Given the description of an element on the screen output the (x, y) to click on. 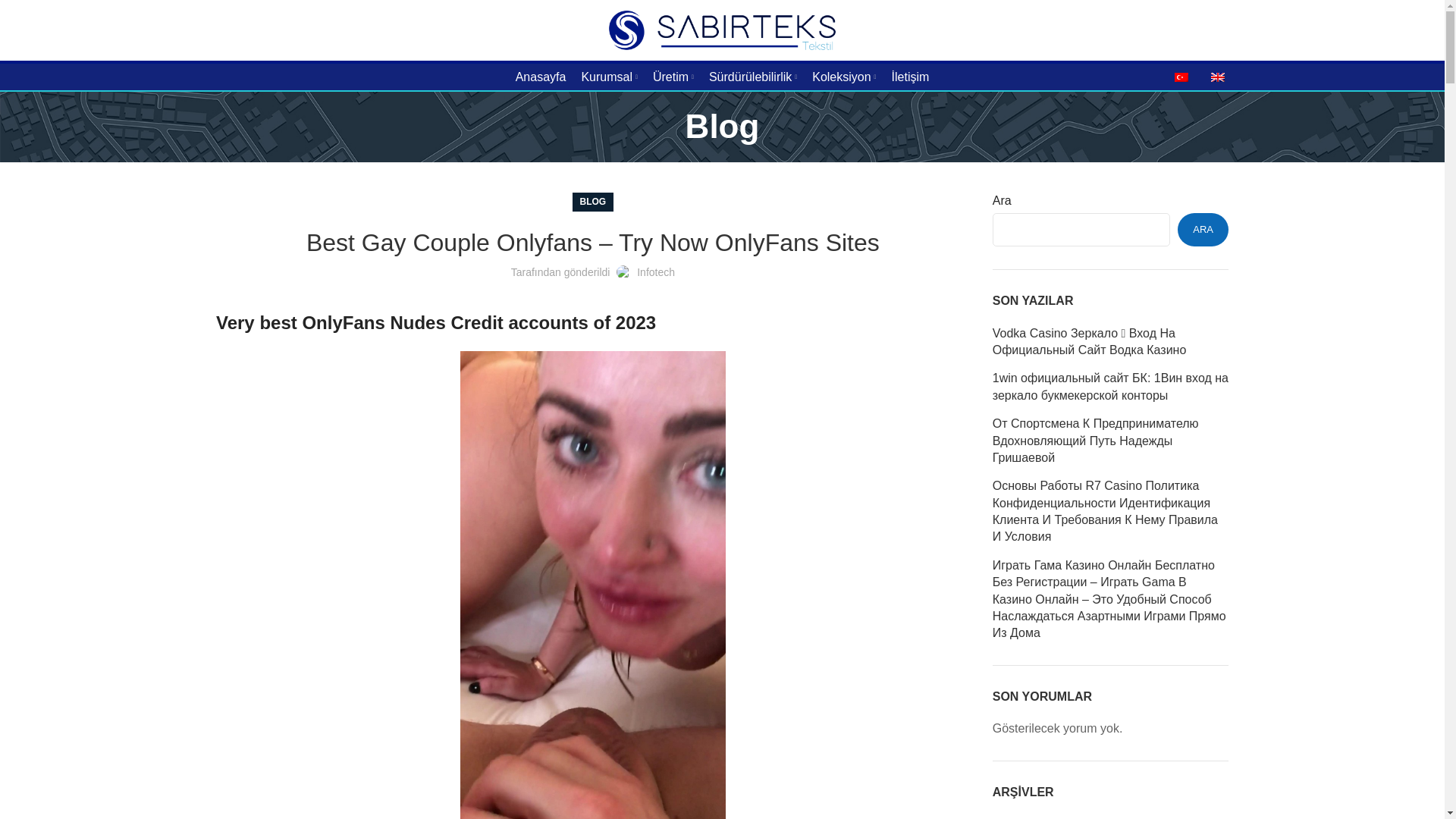
Kurumsal (609, 77)
Koleksiyon (844, 77)
Turkish (1181, 76)
Infotech (656, 272)
Anasayfa (540, 77)
English (1217, 76)
BLOG (593, 201)
